Given the description of an element on the screen output the (x, y) to click on. 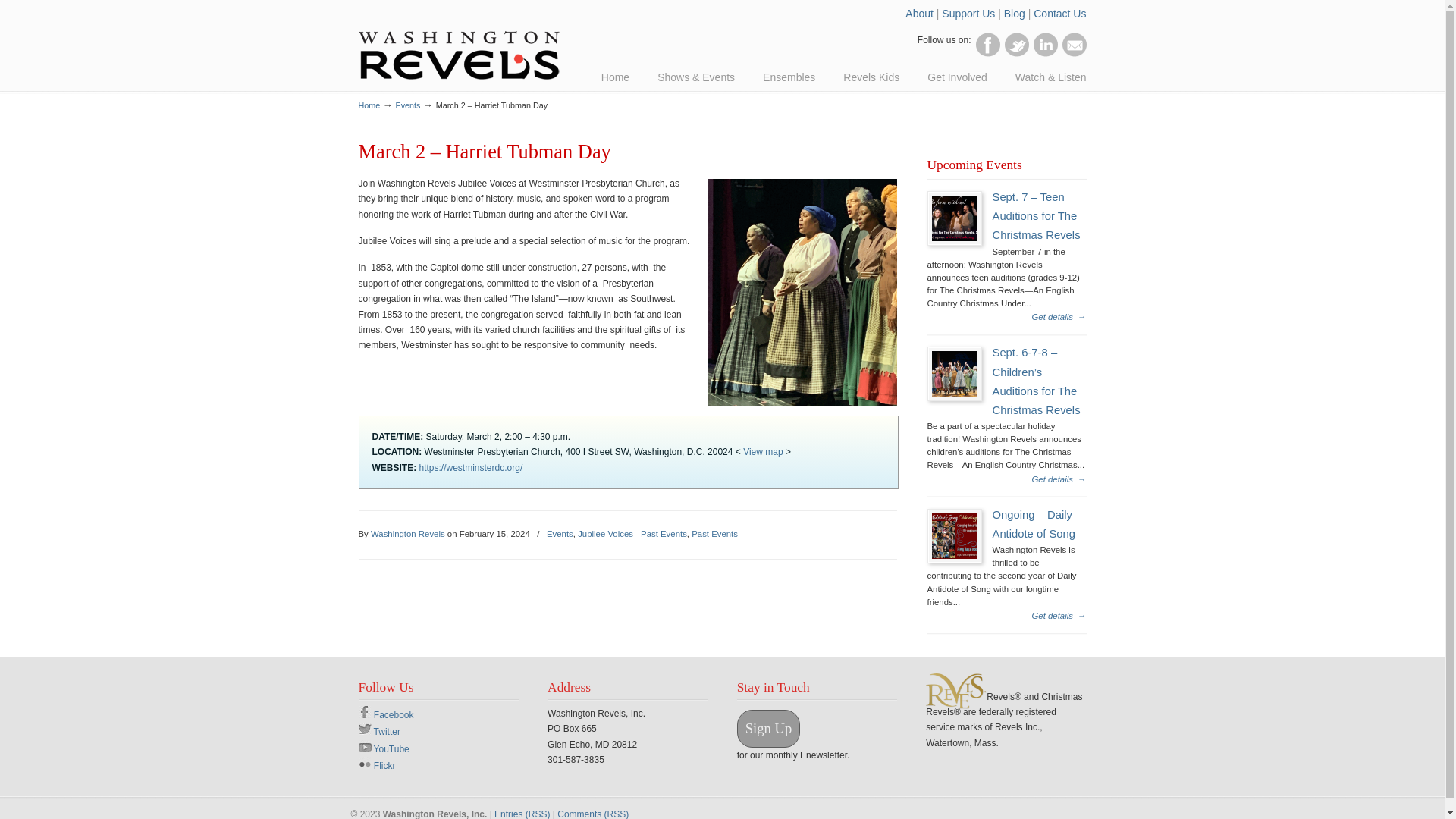
Ensembles (788, 77)
About (919, 13)
Home (369, 104)
E-mail (1073, 44)
Revels Kids (871, 77)
Home (615, 77)
Twitter (1015, 44)
Get Involved (957, 77)
Blog (1014, 13)
Washington Revels (458, 42)
